Given the description of an element on the screen output the (x, y) to click on. 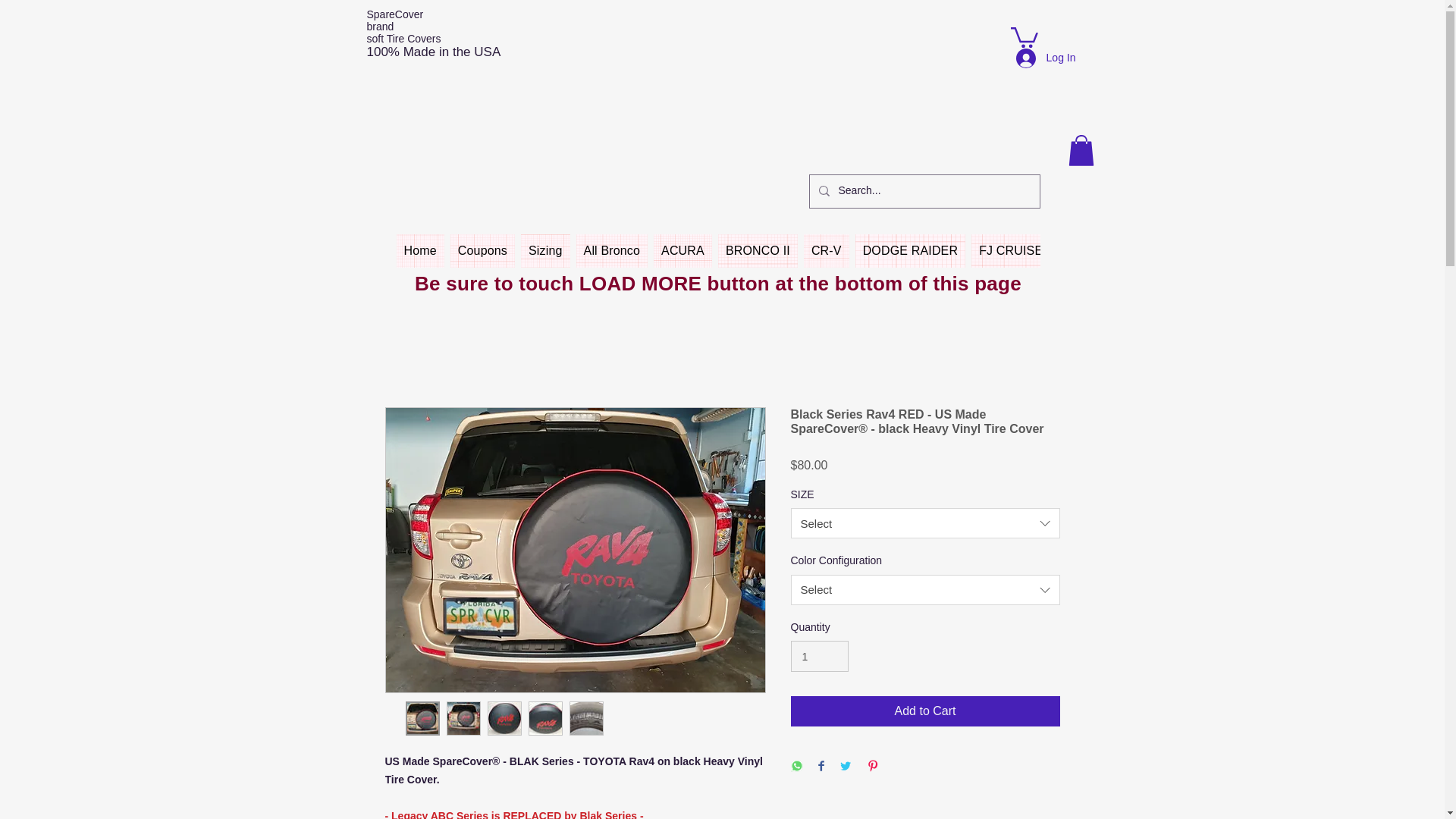
All Bronco (611, 250)
1 (818, 655)
LIBERTY (1276, 250)
Log In (1046, 58)
BRONCO II (757, 250)
Home (420, 250)
Sizing (545, 250)
DODGE RAIDER (911, 250)
HUMMER (1100, 250)
ACURA (682, 250)
MERCEDES BENZ (1376, 250)
FJ CRUISER (1015, 250)
CR-V (825, 250)
LAND ROVER (1189, 250)
Coupons (482, 250)
